Given the description of an element on the screen output the (x, y) to click on. 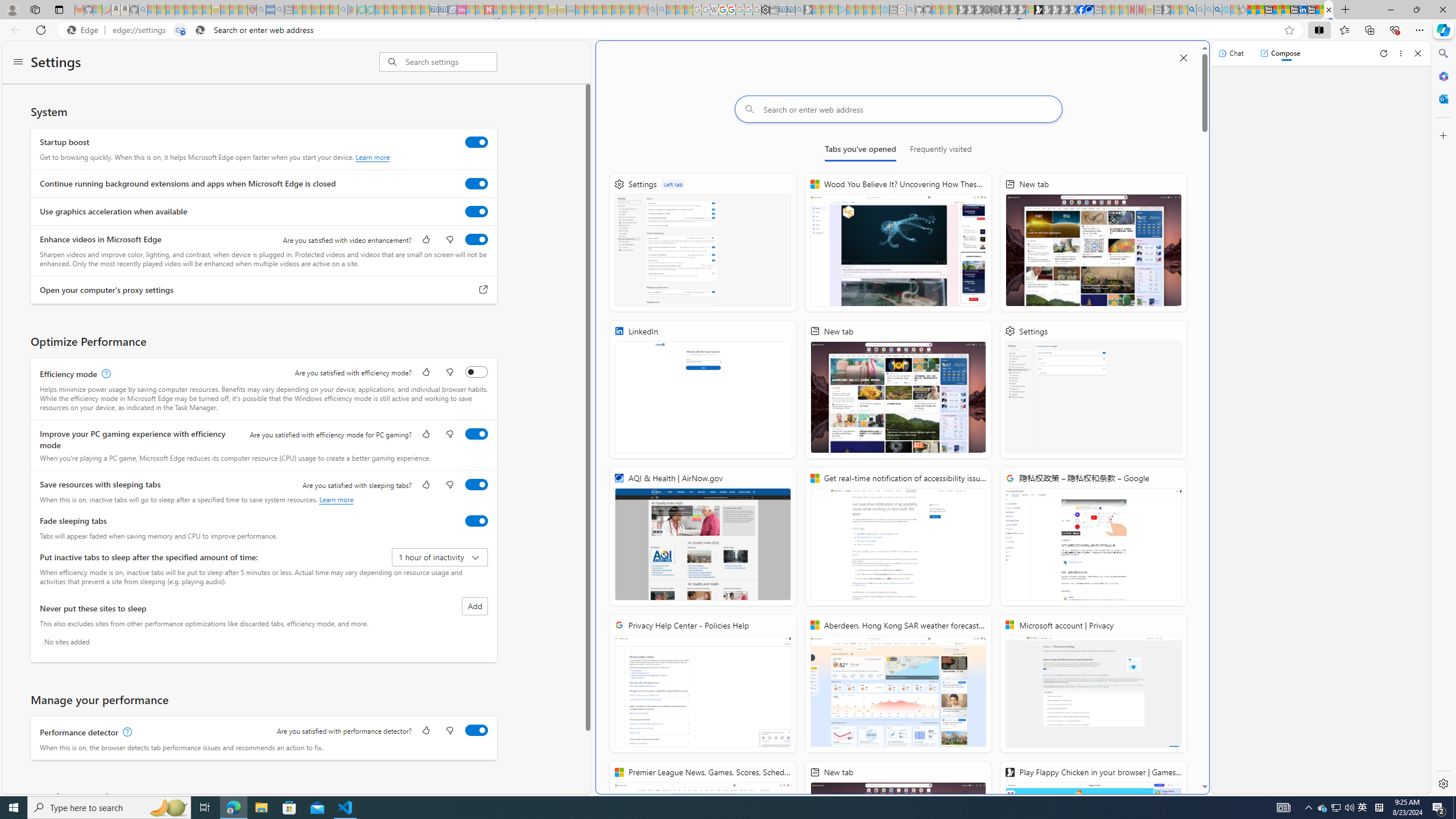
Enhance videos in Microsoft Edge (476, 238)
Like (425, 731)
